Given the description of an element on the screen output the (x, y) to click on. 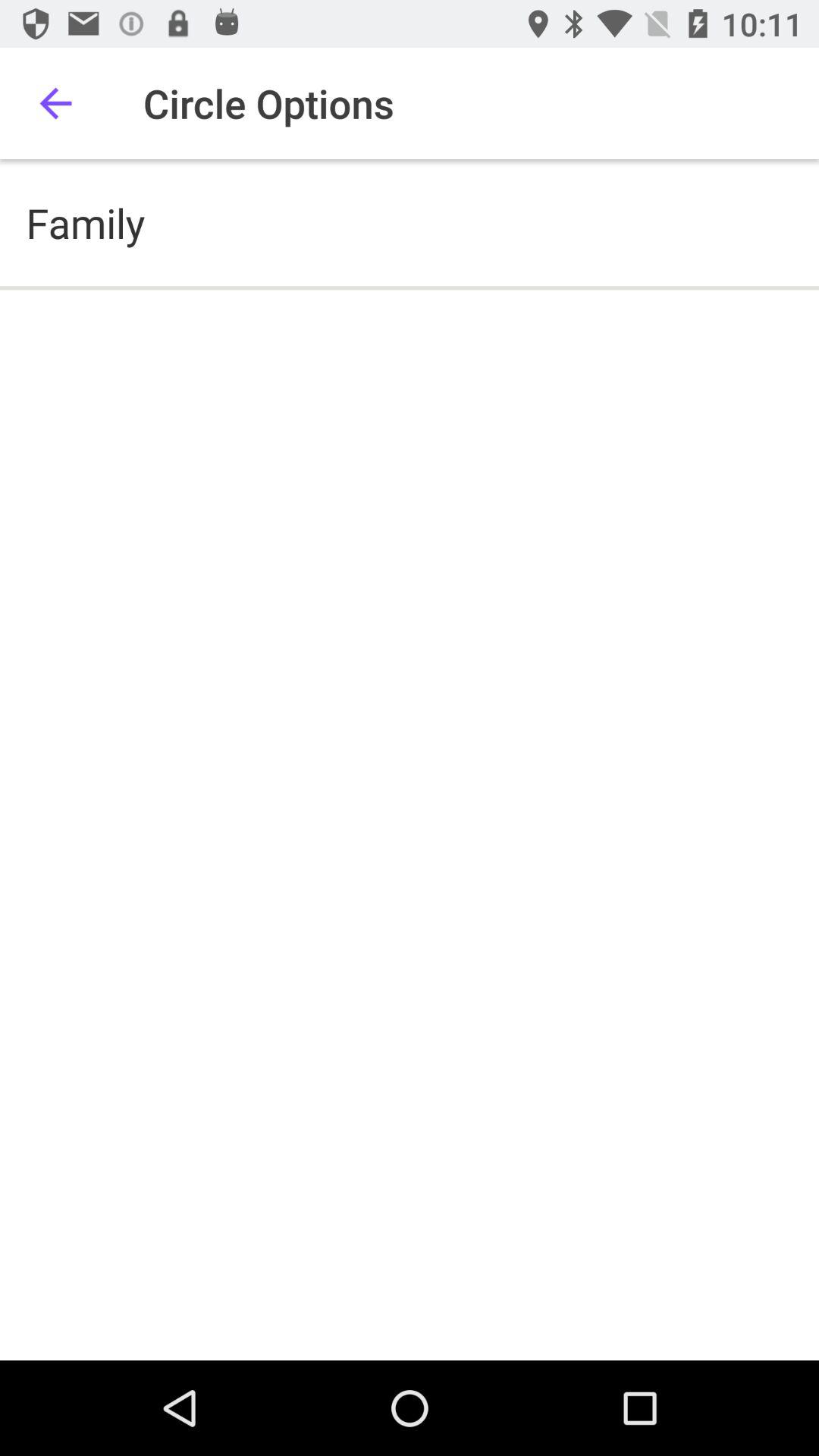
scroll to the family (85, 222)
